Given the description of an element on the screen output the (x, y) to click on. 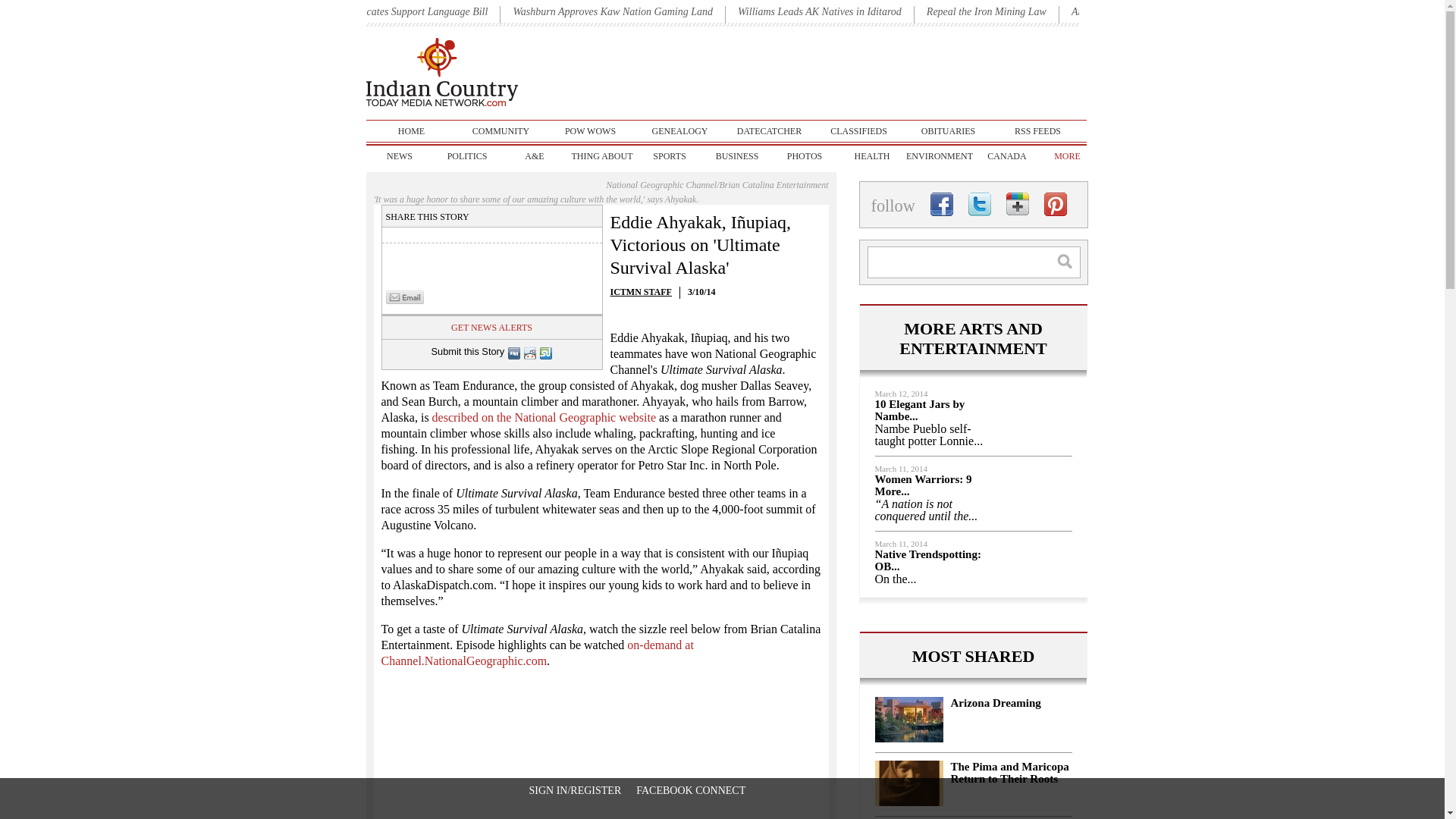
Washburn Approves Kaw Nation Gaming Land (612, 11)
GENEALOGY (679, 130)
POW WOWS (589, 130)
SPORTS (668, 156)
Native Advocates Support Language Bill (400, 11)
Answer to Expanding Oral Health (1144, 11)
HEALTH (871, 156)
Enter the terms you wish to search for. (973, 262)
NEWS (398, 156)
PHOTOS (804, 156)
Williams Leads AK Natives in Iditarod (819, 11)
HOME (411, 130)
DATECATCHER (768, 130)
COMMUNITY (500, 130)
